Given the description of an element on the screen output the (x, y) to click on. 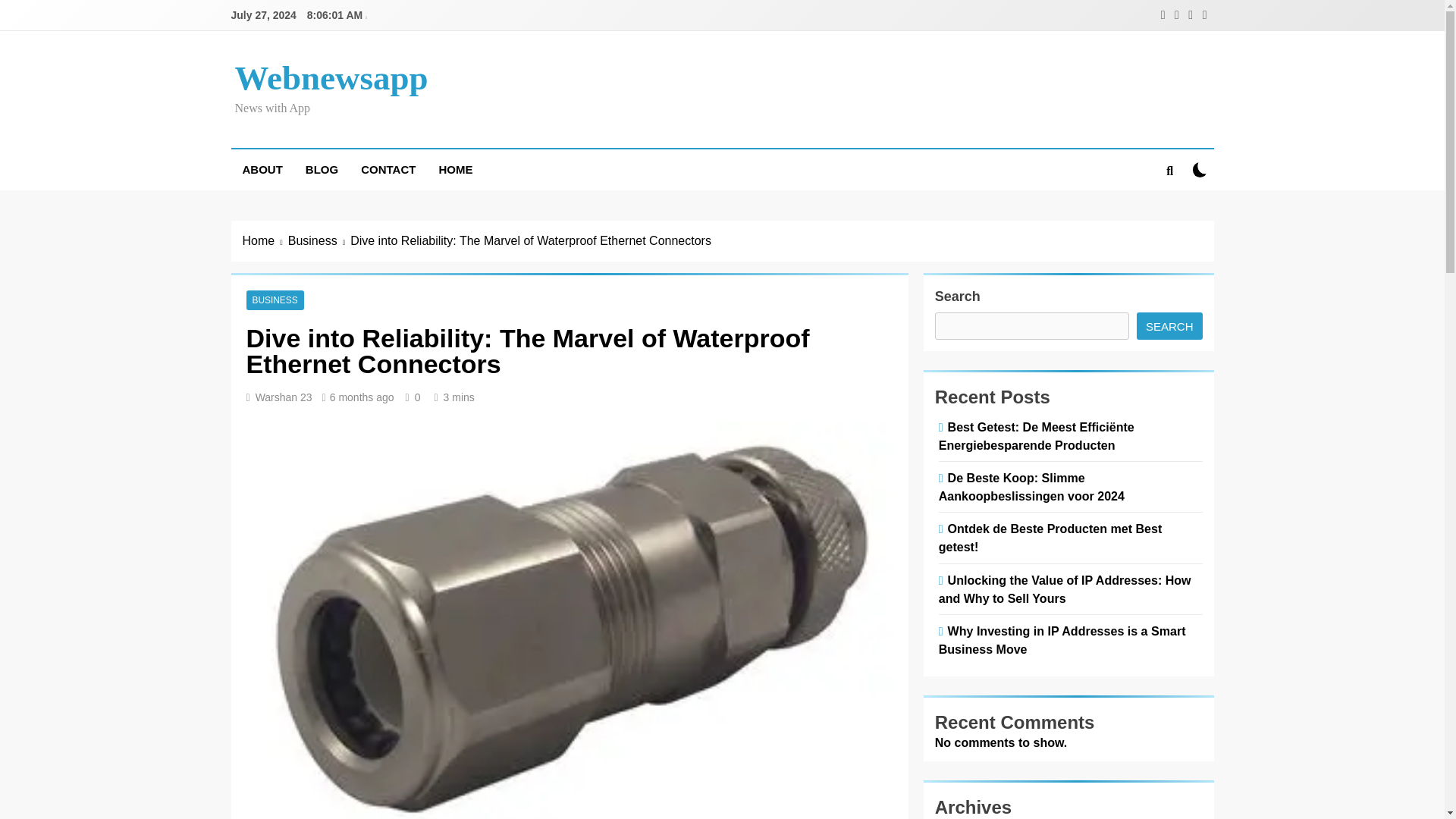
HOME (454, 169)
De Beste Koop: Slimme Aankoopbeslissingen voor 2024 (1033, 486)
Home (265, 240)
Warshan 23 (284, 397)
BLOG (321, 169)
ABOUT (262, 169)
Webnewsapp (331, 77)
BUSINESS (274, 299)
SEARCH (1169, 325)
Business (319, 240)
CONTACT (387, 169)
on (1199, 169)
6 months ago (362, 397)
Ontdek de Beste Producten met Best getest! (1050, 537)
